Given the description of an element on the screen output the (x, y) to click on. 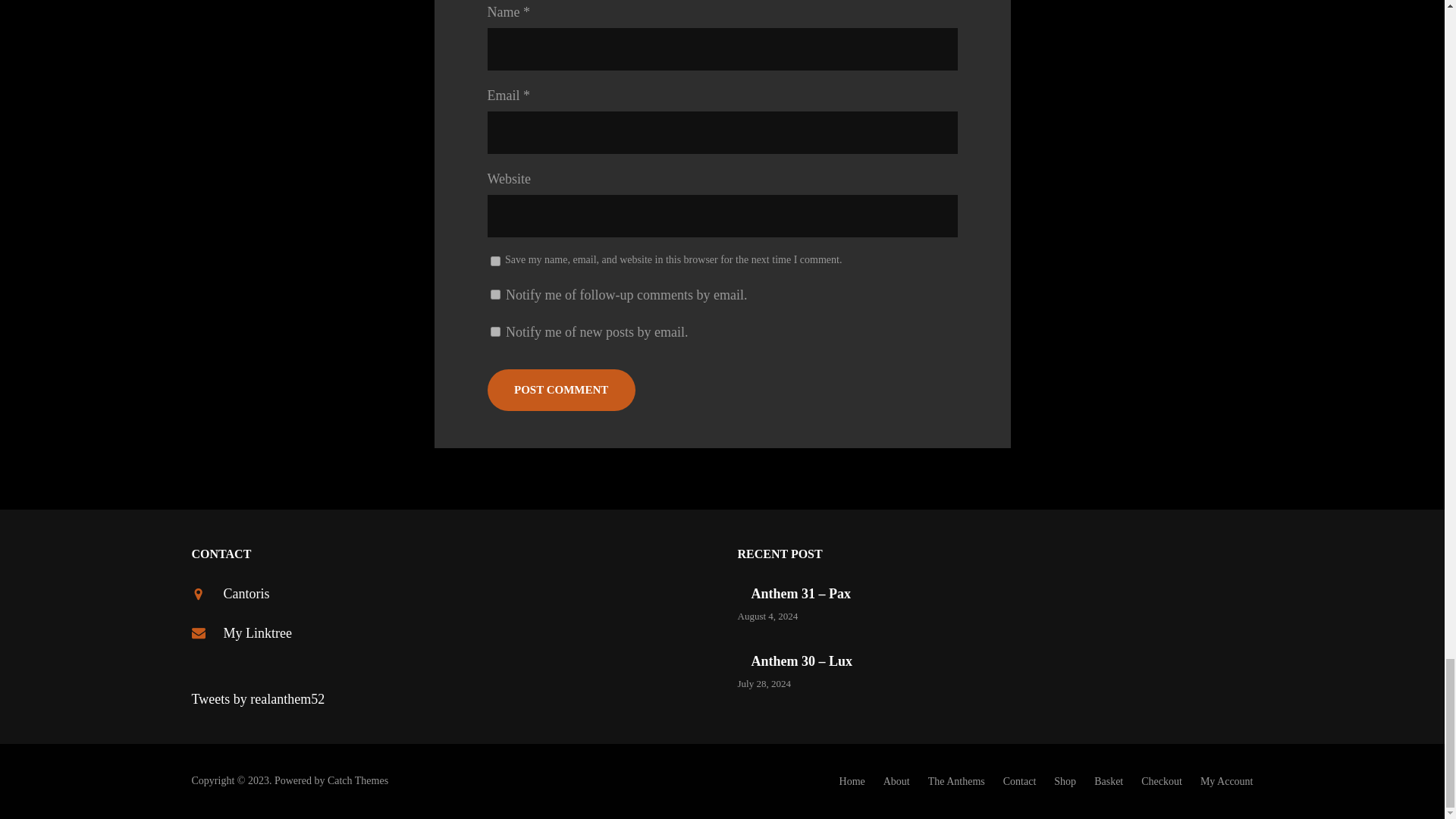
My Linktree (256, 632)
Post Comment (560, 390)
Cantoris (245, 593)
subscribe (494, 294)
The Anthems (956, 780)
Tweets by realanthem52 (257, 698)
Contact (1019, 780)
Catch Themes (357, 780)
Post Comment (560, 390)
subscribe (494, 331)
